Given the description of an element on the screen output the (x, y) to click on. 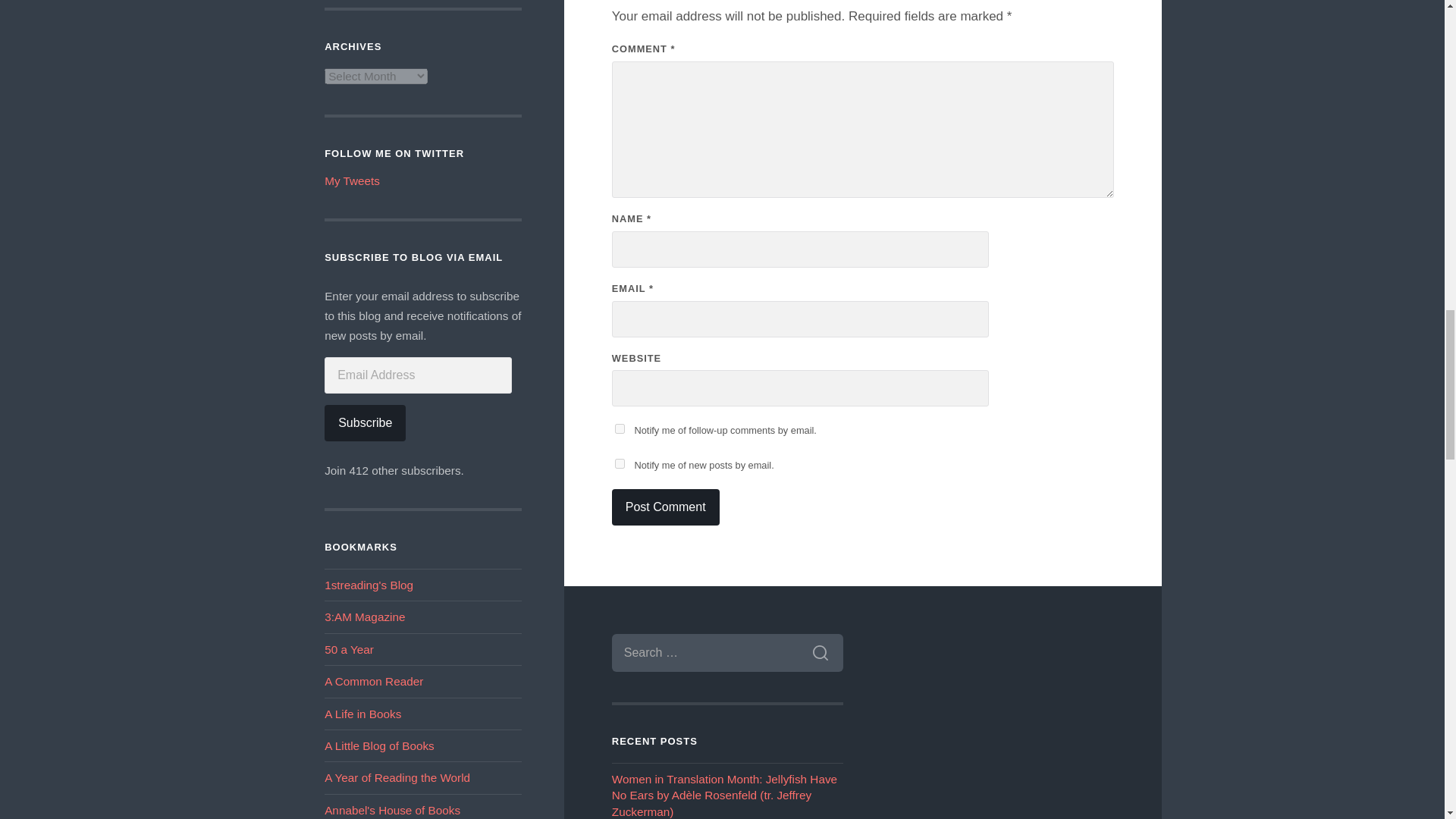
Search (820, 652)
Search (820, 652)
subscribe (619, 429)
subscribe (619, 463)
Post Comment (665, 506)
